Given the description of an element on the screen output the (x, y) to click on. 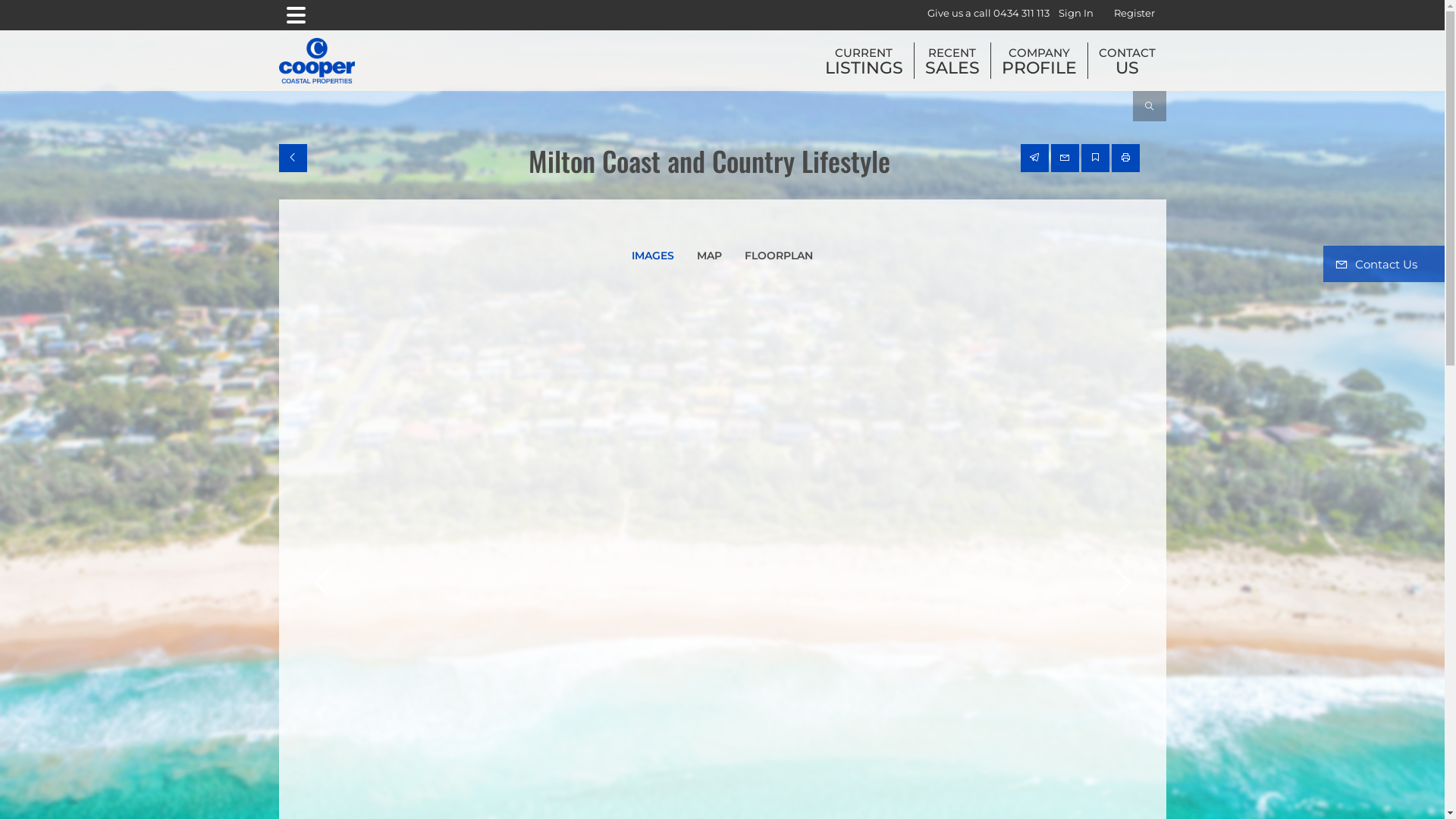
Email to Friend Element type: hover (1034, 158)
IMAGES Element type: text (652, 255)
Give us a call 0434 311 113 Element type: text (987, 13)
MAP Element type: text (709, 255)
Register Element type: text (1134, 13)
FLOORPLAN Element type: text (778, 255)
Contact Us Element type: text (1383, 263)
Sign In Element type: text (1075, 13)
COMPANY
PROFILE Element type: text (1038, 60)
next Element type: text (1120, 576)
prev Element type: text (323, 576)
CONTACT
US Element type: text (1126, 60)
RECENT
SALES Element type: text (952, 60)
Email to Agent Element type: hover (1065, 158)
CURRENT
LISTINGS Element type: text (863, 60)
